Given the description of an element on the screen output the (x, y) to click on. 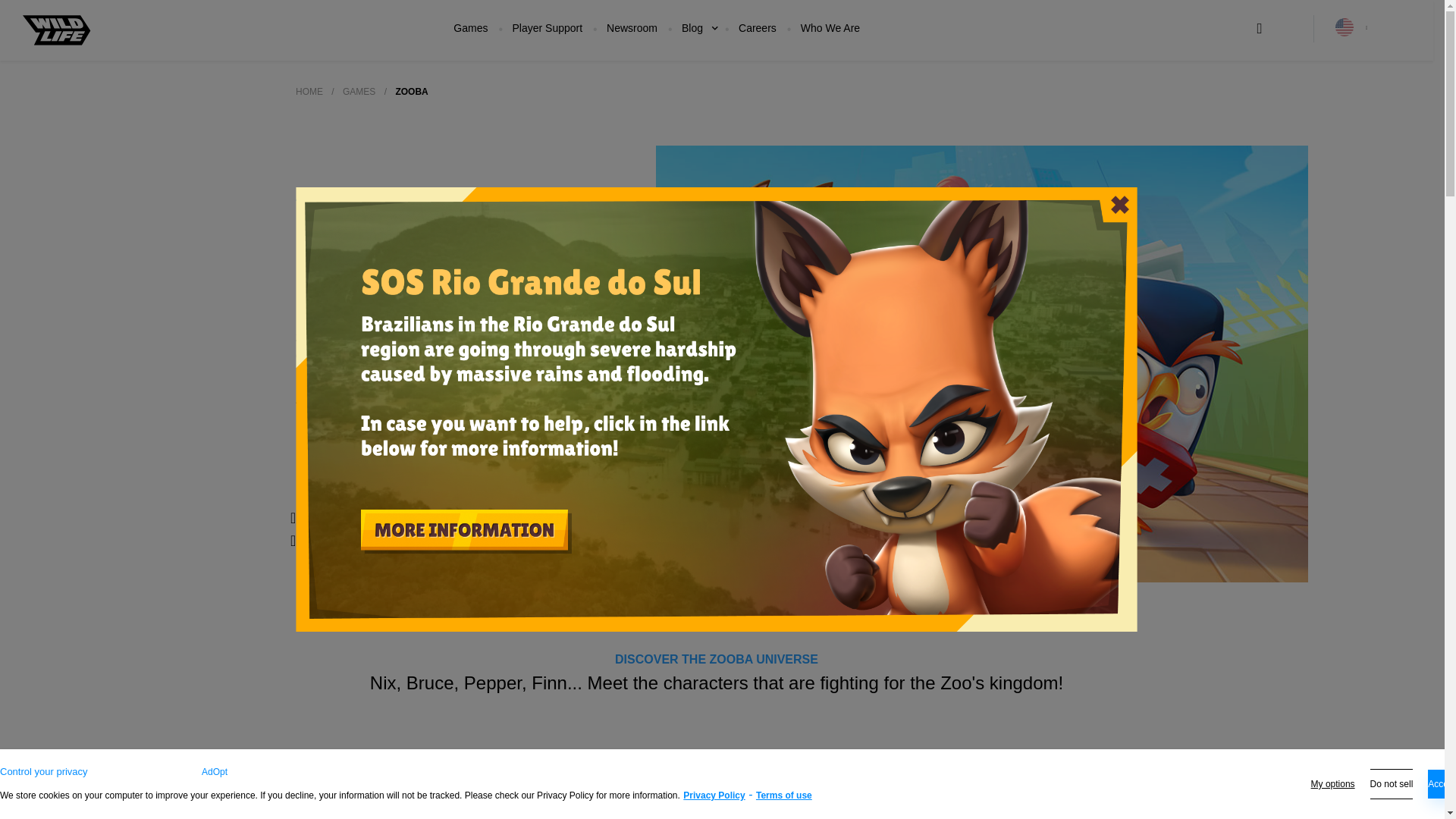
Twitter (413, 517)
Player Support (547, 27)
Home (309, 91)
Player Support (547, 27)
Who We Are (830, 27)
Search (1259, 28)
Instagram (520, 517)
Newsroom (632, 27)
Youtube (416, 540)
Careers (757, 27)
Games (469, 27)
Newsroom (632, 27)
Tiktok (311, 540)
Who We Are (830, 27)
HOME (309, 91)
